Given the description of an element on the screen output the (x, y) to click on. 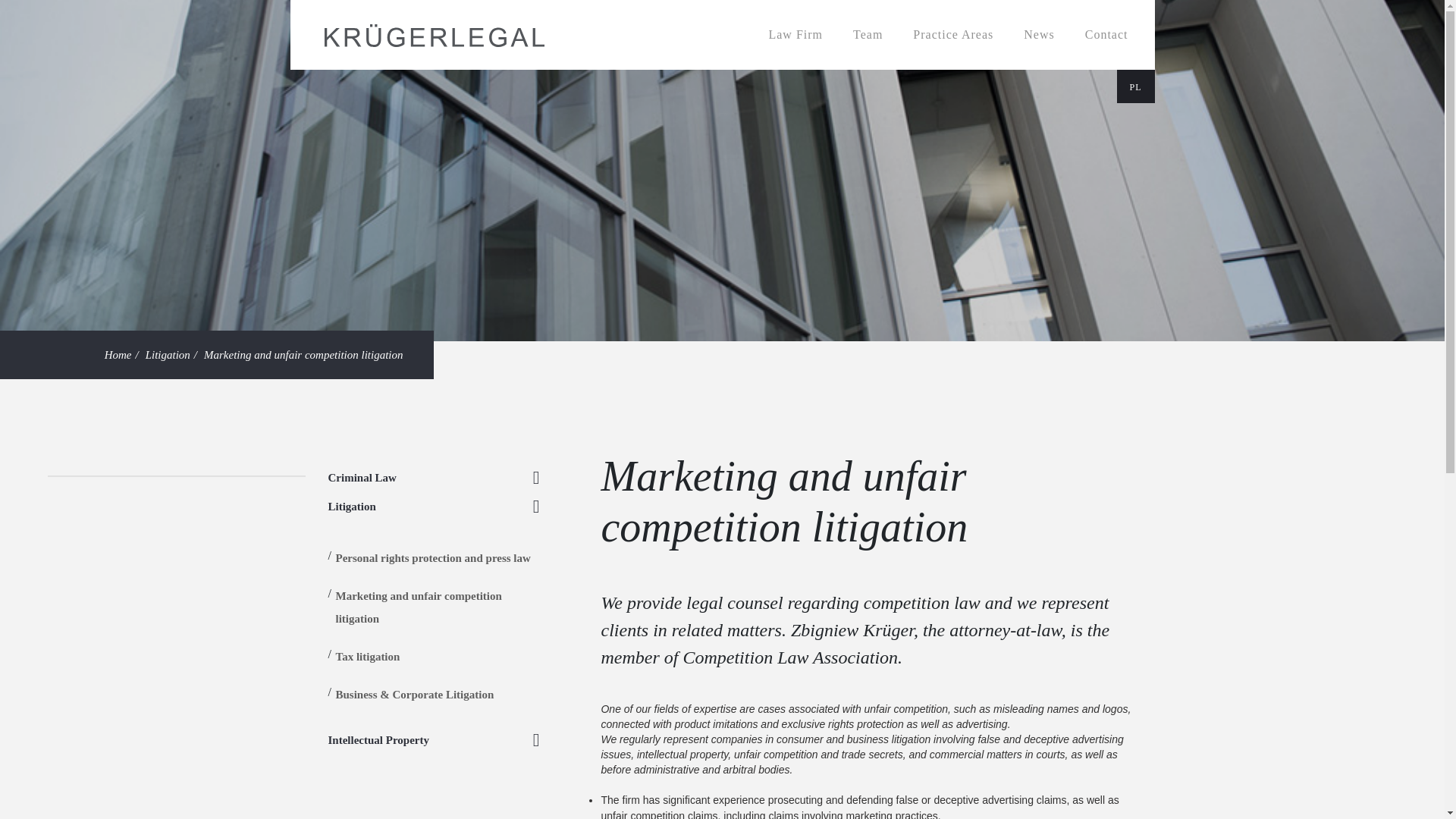
PL (1135, 86)
News (1038, 34)
Litigation (167, 354)
Intellectual Property (377, 739)
Practice Areas (953, 34)
Team (868, 34)
Marketing and unfair competition litigation (417, 606)
Litigation (351, 506)
Home (118, 354)
Law Firm (795, 34)
Tax litigation (366, 656)
Personal rights protection and press law (431, 558)
Criminal Law (361, 477)
Contact (1106, 34)
